Given the description of an element on the screen output the (x, y) to click on. 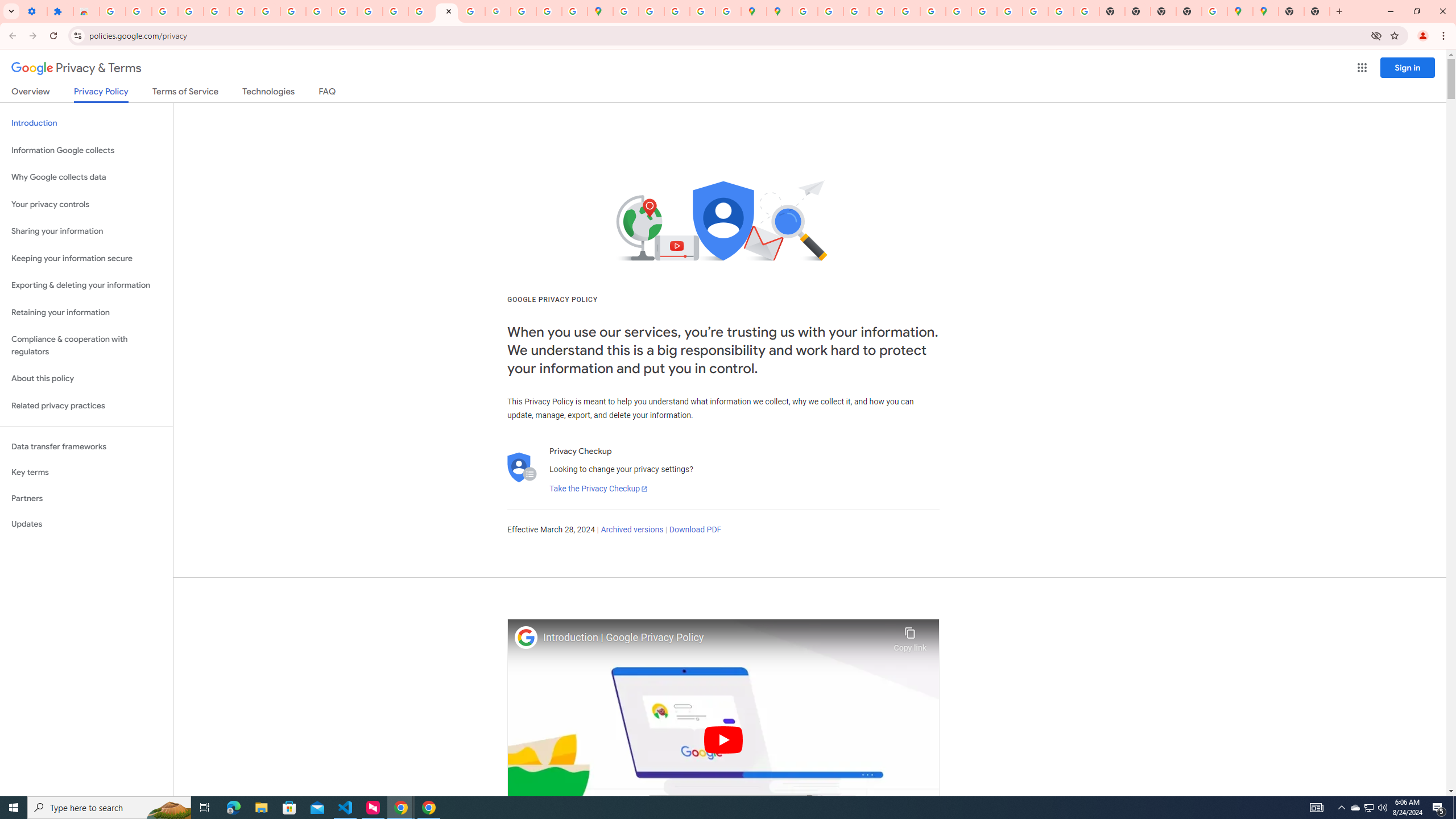
https://scholar.google.com/ (344, 11)
Create your Google Account (676, 11)
Retaining your information (86, 312)
Delete photos & videos - Computer - Google Photos Help (138, 11)
Data transfer frameworks (86, 446)
